Given the description of an element on the screen output the (x, y) to click on. 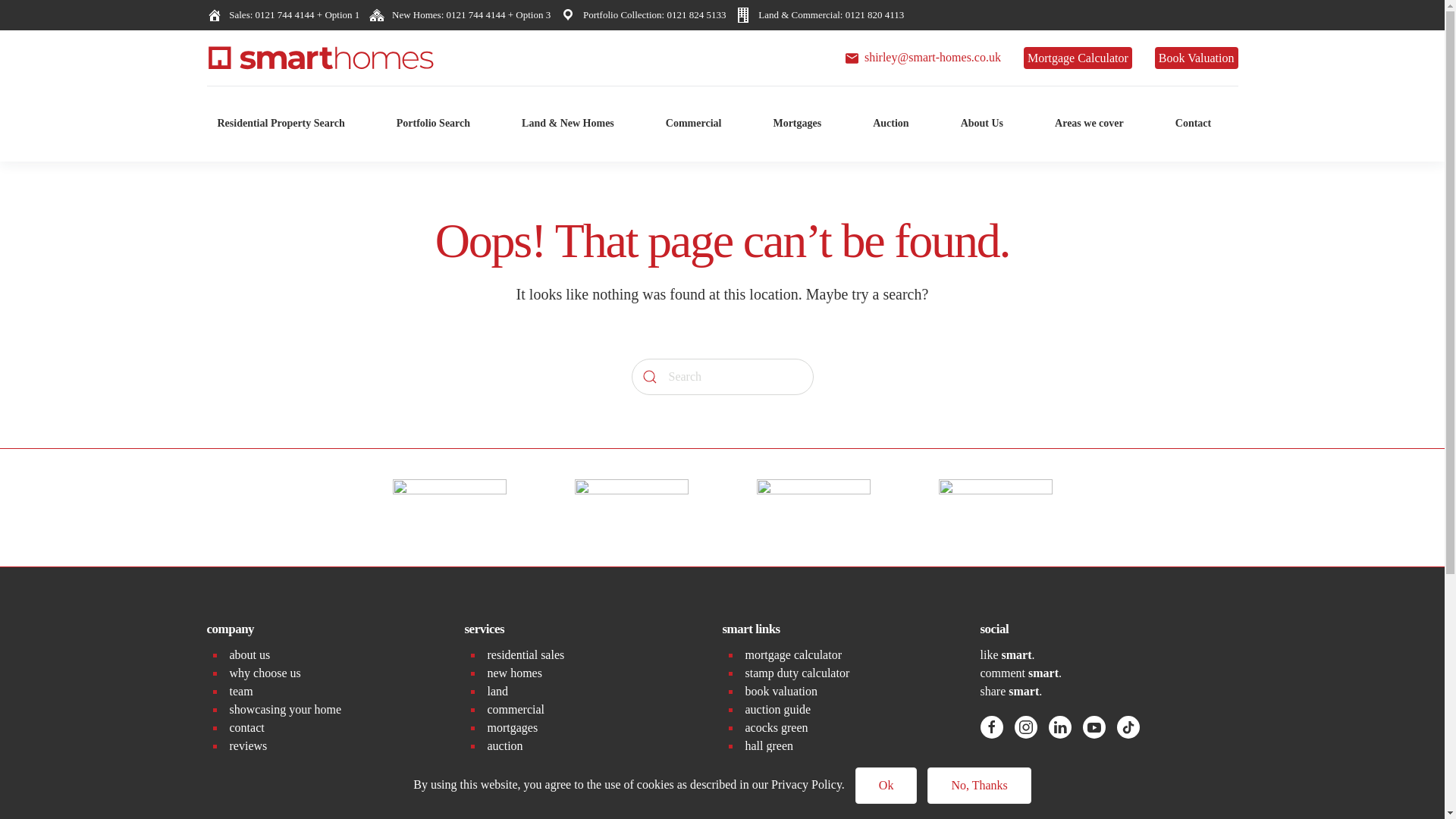
Residential Property Search (280, 123)
Mortgage Calculator (1077, 57)
Book Valuation (1196, 57)
  Portfolio Collection: 0121 824 5133 (651, 14)
